Given the description of an element on the screen output the (x, y) to click on. 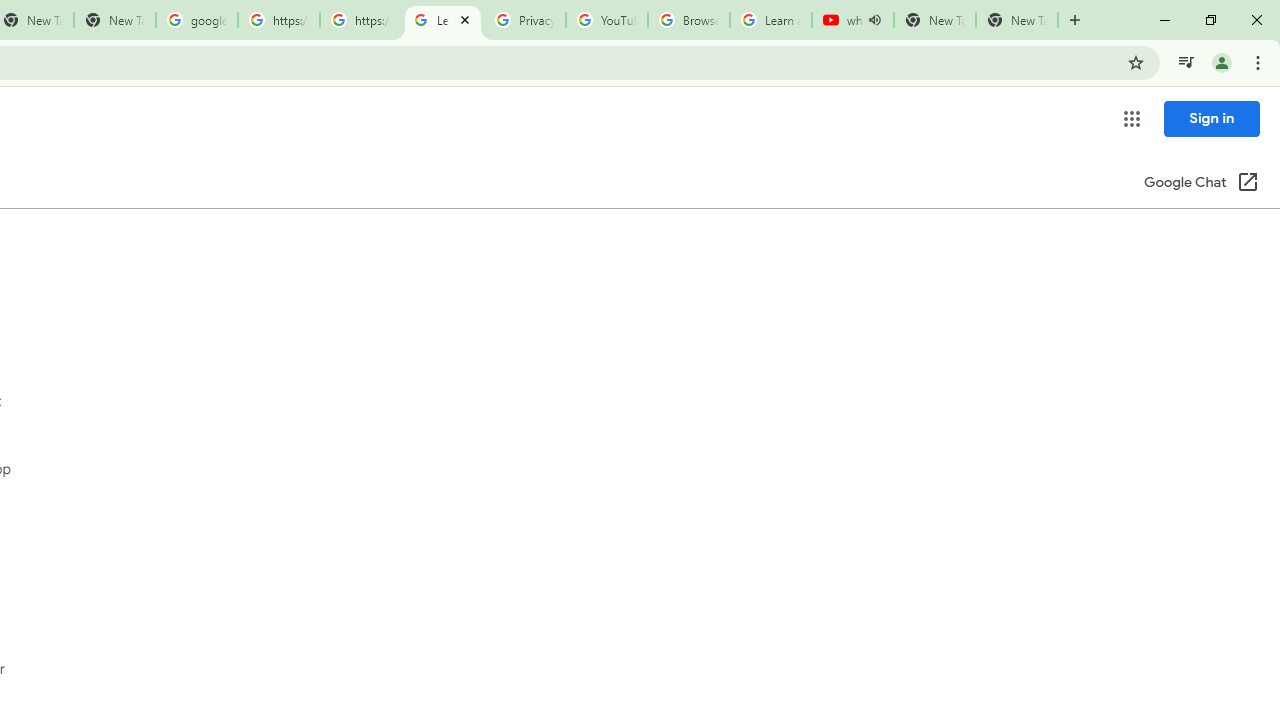
https://scholar.google.com/ (360, 20)
Google Chat (Open in a new window) (1201, 183)
